Given the description of an element on the screen output the (x, y) to click on. 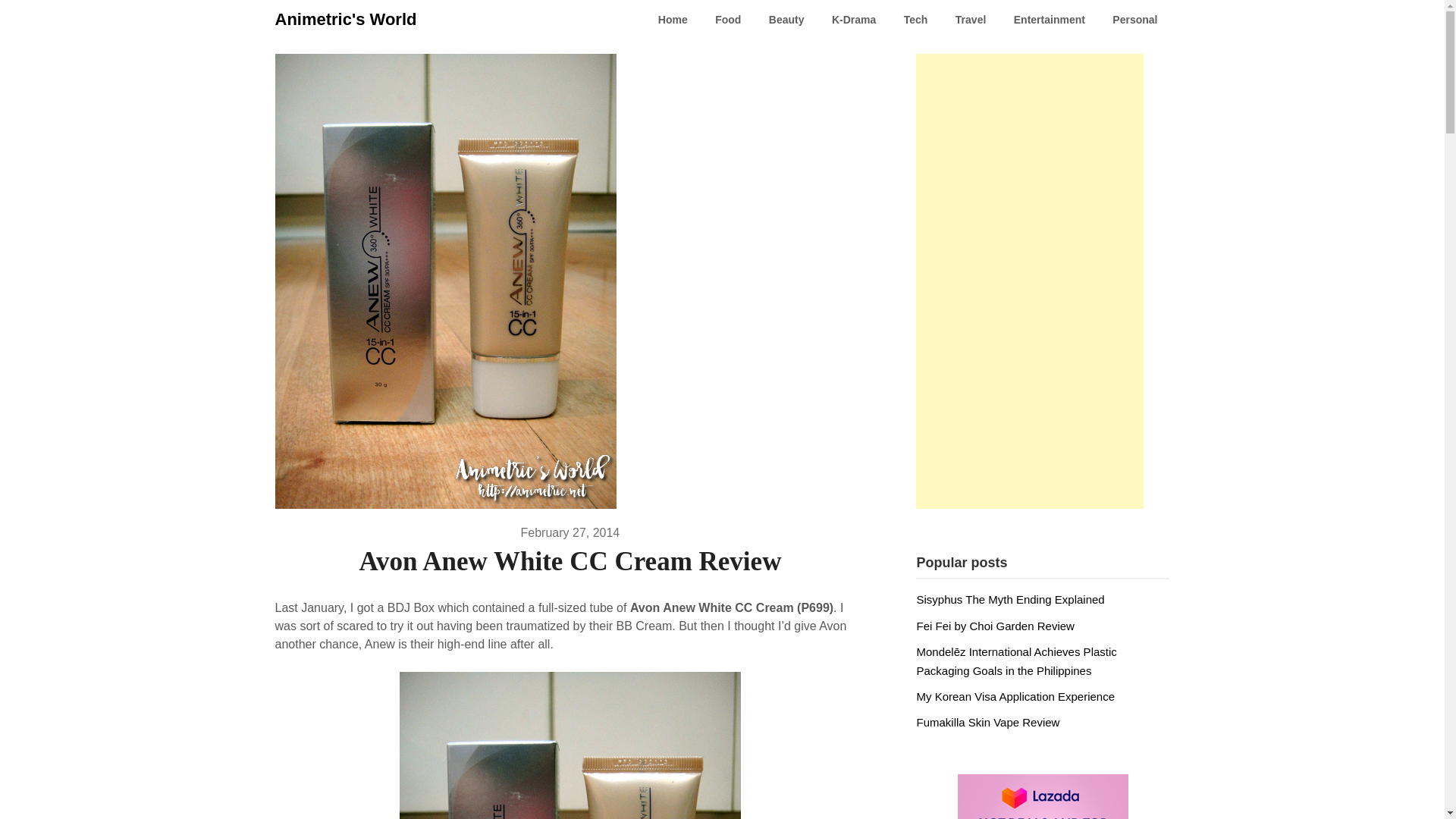
Personal (1134, 20)
February 27, 2014 (570, 532)
My Korean Visa Application Experience (1015, 696)
Fei Fei by Choi Garden Review (994, 625)
Fumakilla Skin Vape Review (987, 721)
Beauty (786, 20)
My Korean Visa Application Experience (1015, 696)
Fei Fei by Choi Garden Review (994, 625)
K-Drama (853, 20)
Food (727, 20)
